Given the description of an element on the screen output the (x, y) to click on. 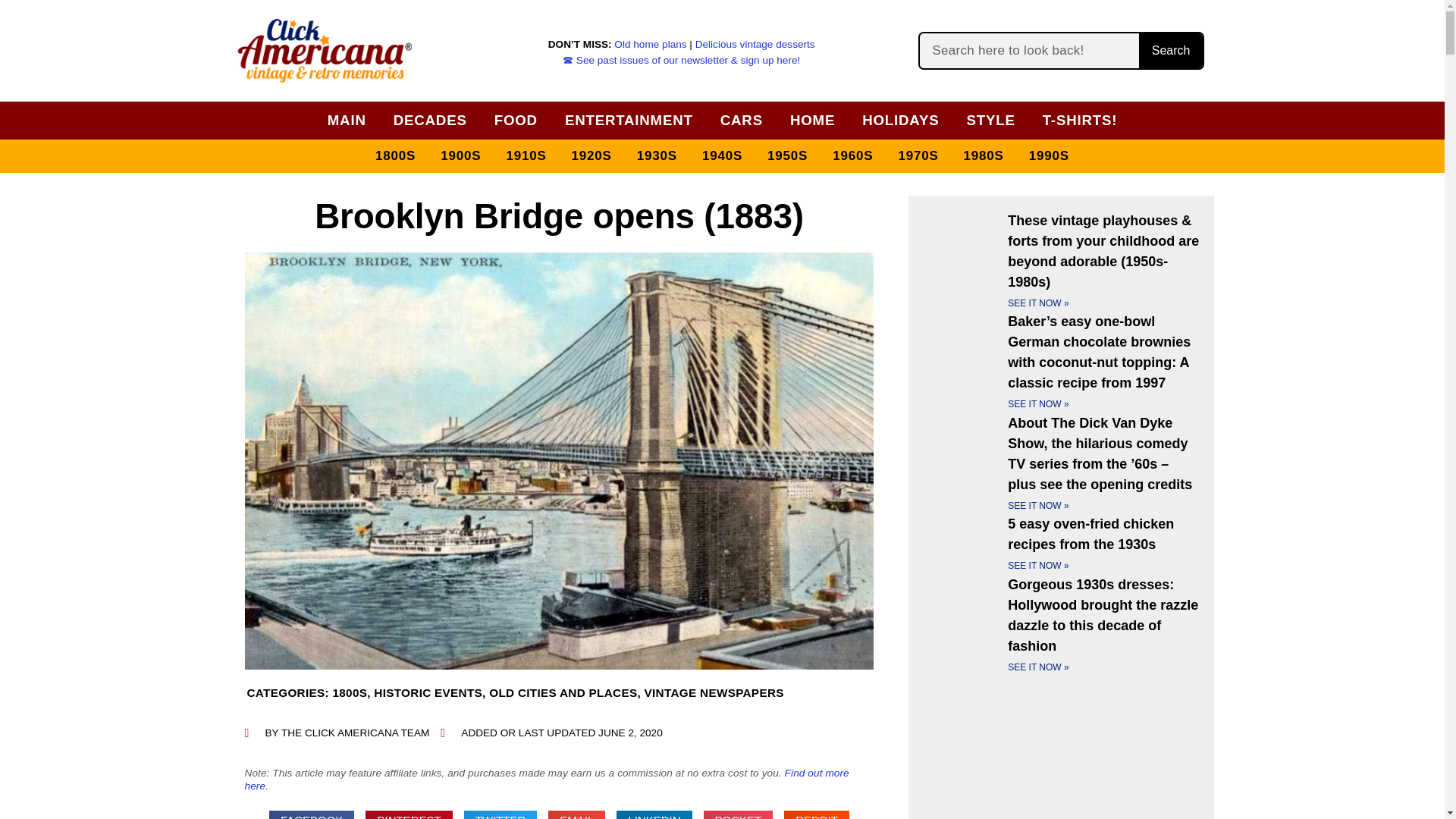
Search (1170, 50)
1990S (1049, 155)
DECADES (430, 120)
1930S (656, 155)
STYLE (989, 120)
FOOD (515, 120)
Delicious vintage desserts (755, 43)
HOLIDAYS (900, 120)
1900S (459, 155)
T-SHIRTS! (1080, 120)
